Given the description of an element on the screen output the (x, y) to click on. 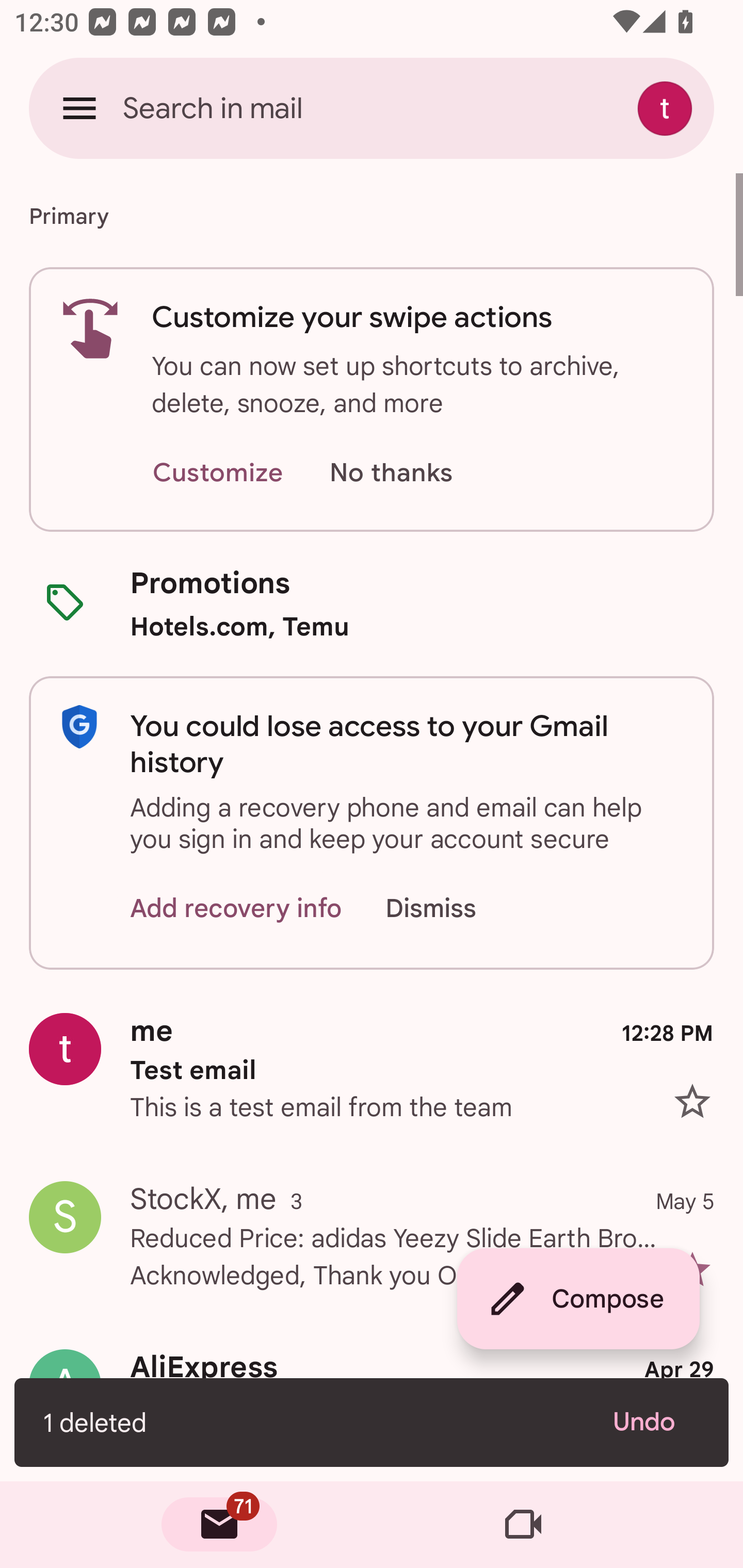
Open navigation drawer (79, 108)
Customize (217, 473)
No thanks (390, 473)
Promotions Hotels.com, Temu (371, 603)
Add recovery info (235, 908)
Dismiss (449, 908)
Compose (577, 1299)
Undo (655, 1422)
Meet (523, 1524)
